Given the description of an element on the screen output the (x, y) to click on. 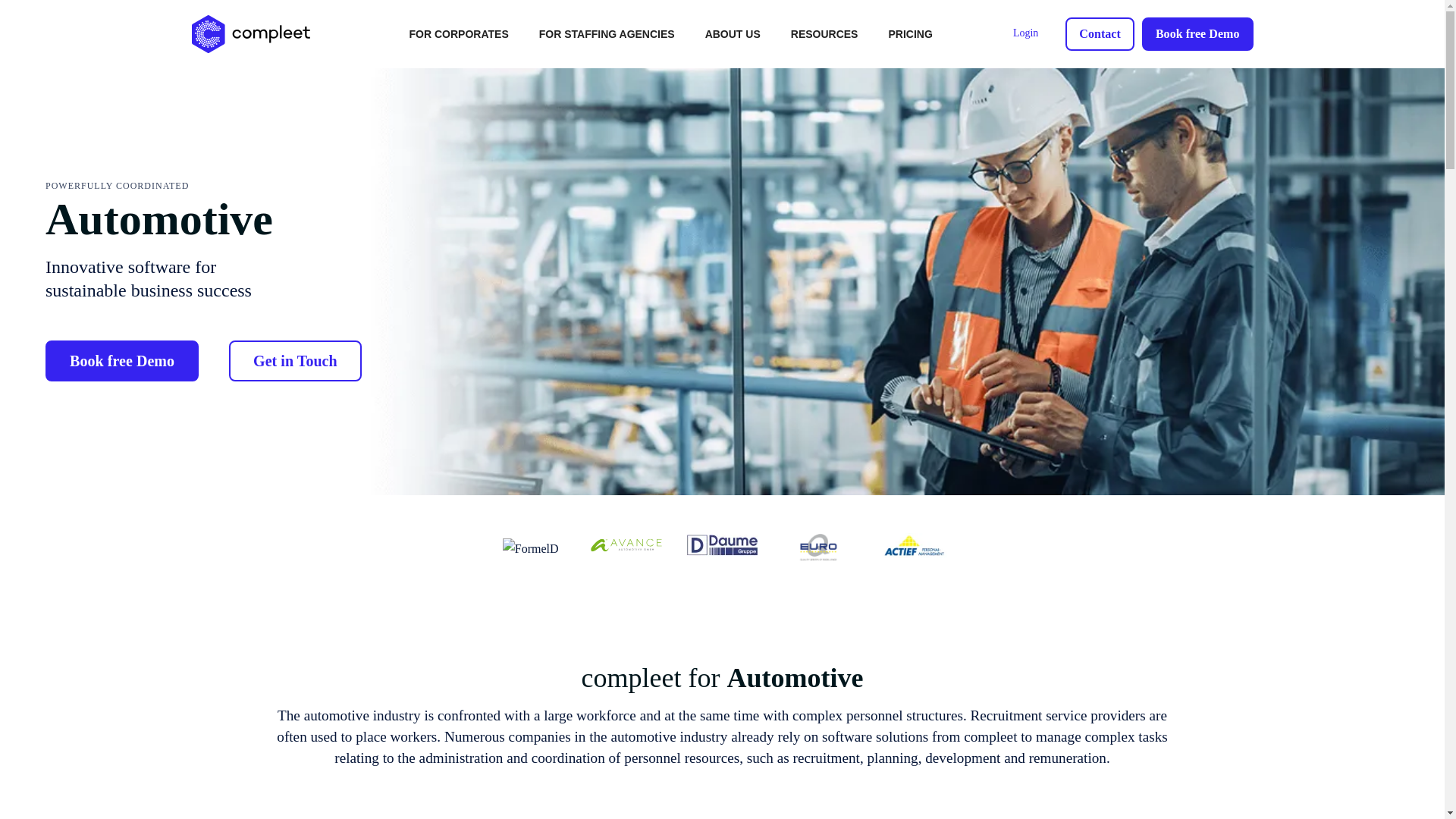
Login (1025, 33)
ABOUT US (733, 33)
FOR CORPORATES (459, 33)
Book free Demo (1197, 33)
RESOURCES (824, 33)
FOR STAFFING AGENCIES (607, 33)
Contact (1099, 33)
